Given the description of an element on the screen output the (x, y) to click on. 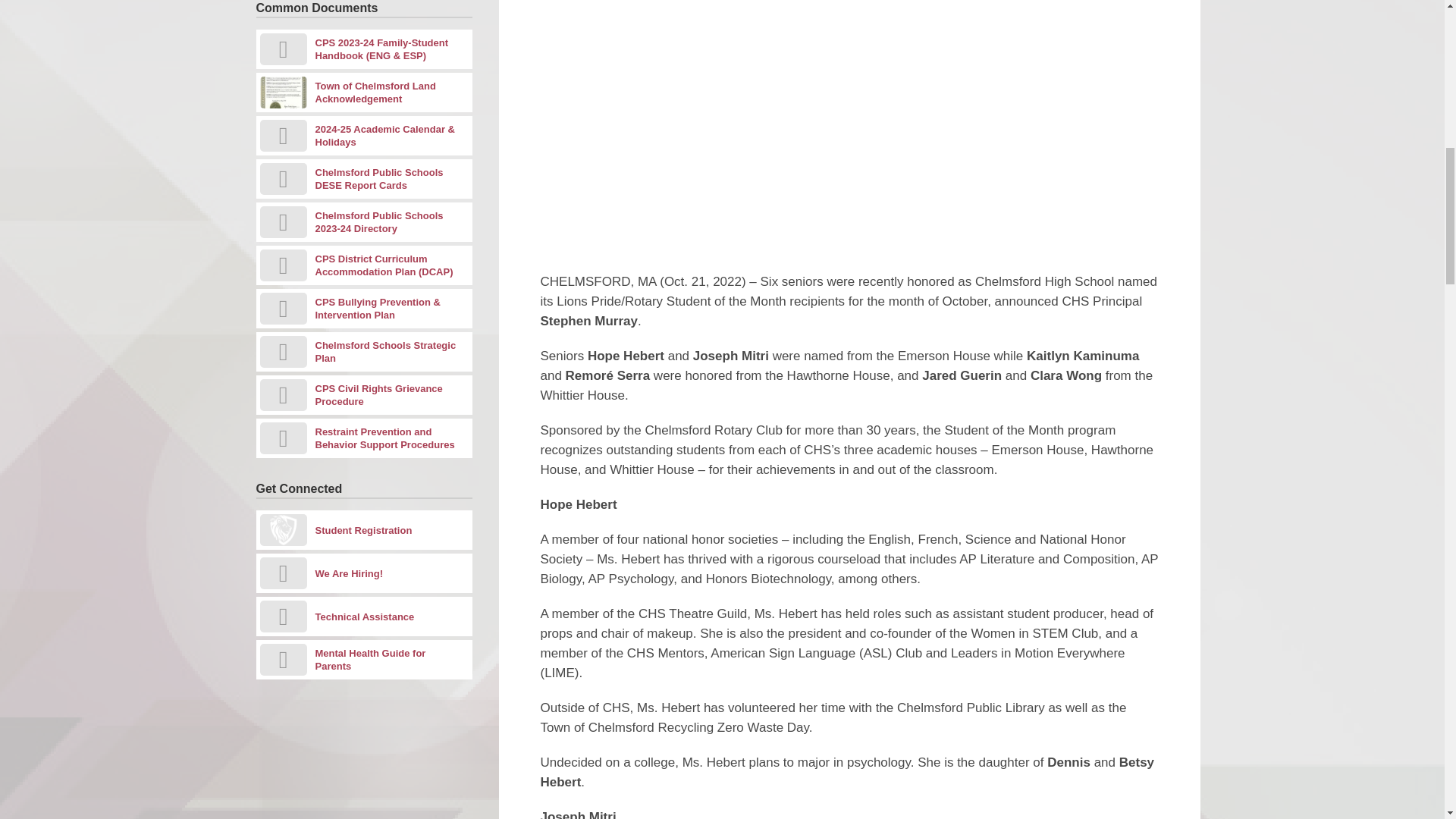
YouTube video player (751, 117)
